Given the description of an element on the screen output the (x, y) to click on. 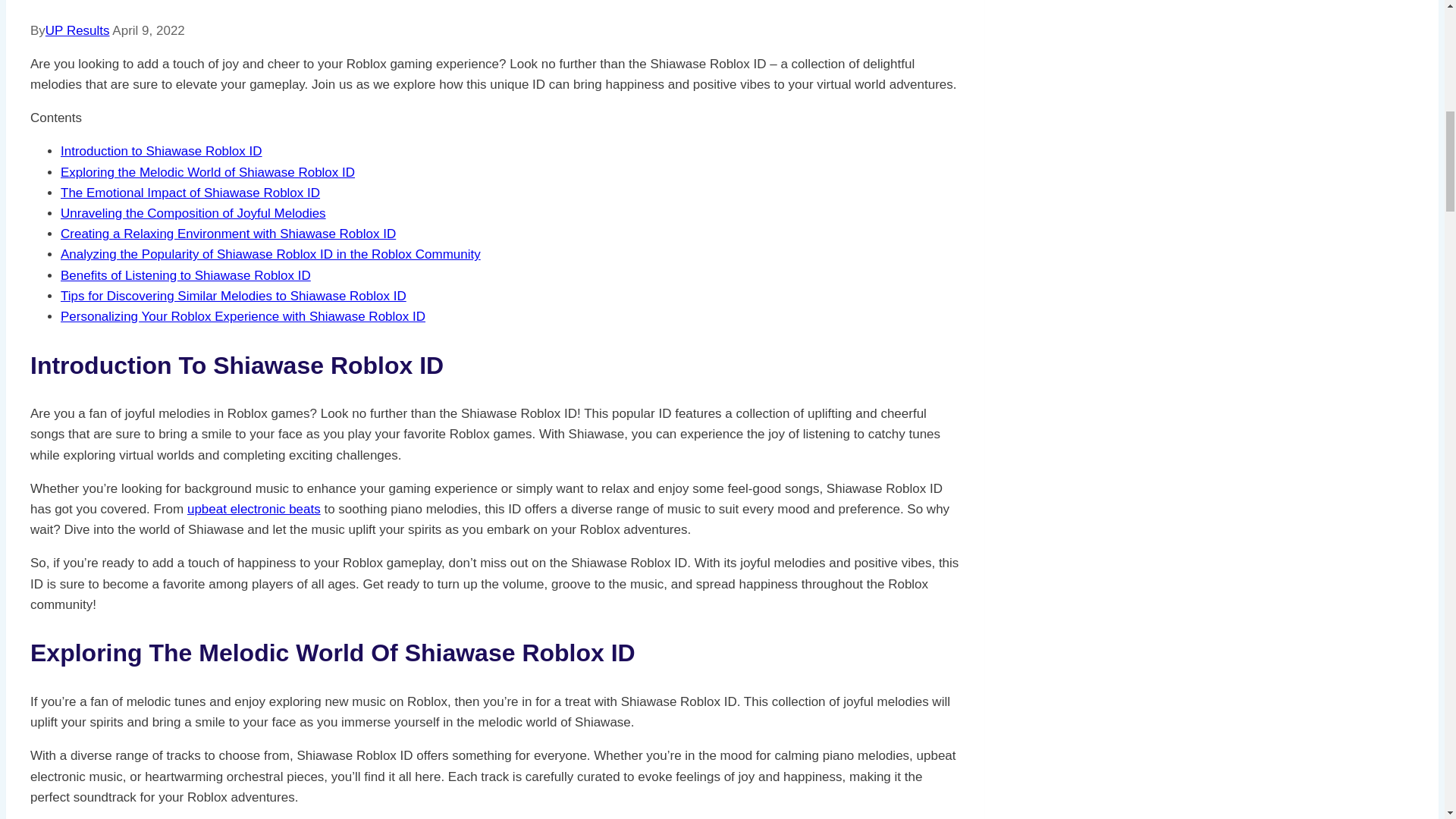
upbeat electronic beats (253, 509)
Tips for Discovering Similar Melodies to Shiawase Roblox ID (233, 296)
The Emotional Impact of Shiawase Roblox ID (190, 192)
Introduction to Shiawase Roblox ID (161, 151)
Benefits of Listening to Shiawase Roblox ID (186, 275)
Unraveling the Composition of Joyful Melodies (193, 213)
Creating a Relaxing Environment with Shiawase Roblox ID (228, 233)
Personalizing Your Roblox Experience with Shiawase Roblox ID (243, 316)
Exploring the Melodic World of Shiawase Roblox ID (208, 172)
Notion Roblox ID - Set the Mood with Enchanting Tunes (253, 509)
UP Results (77, 30)
